Given the description of an element on the screen output the (x, y) to click on. 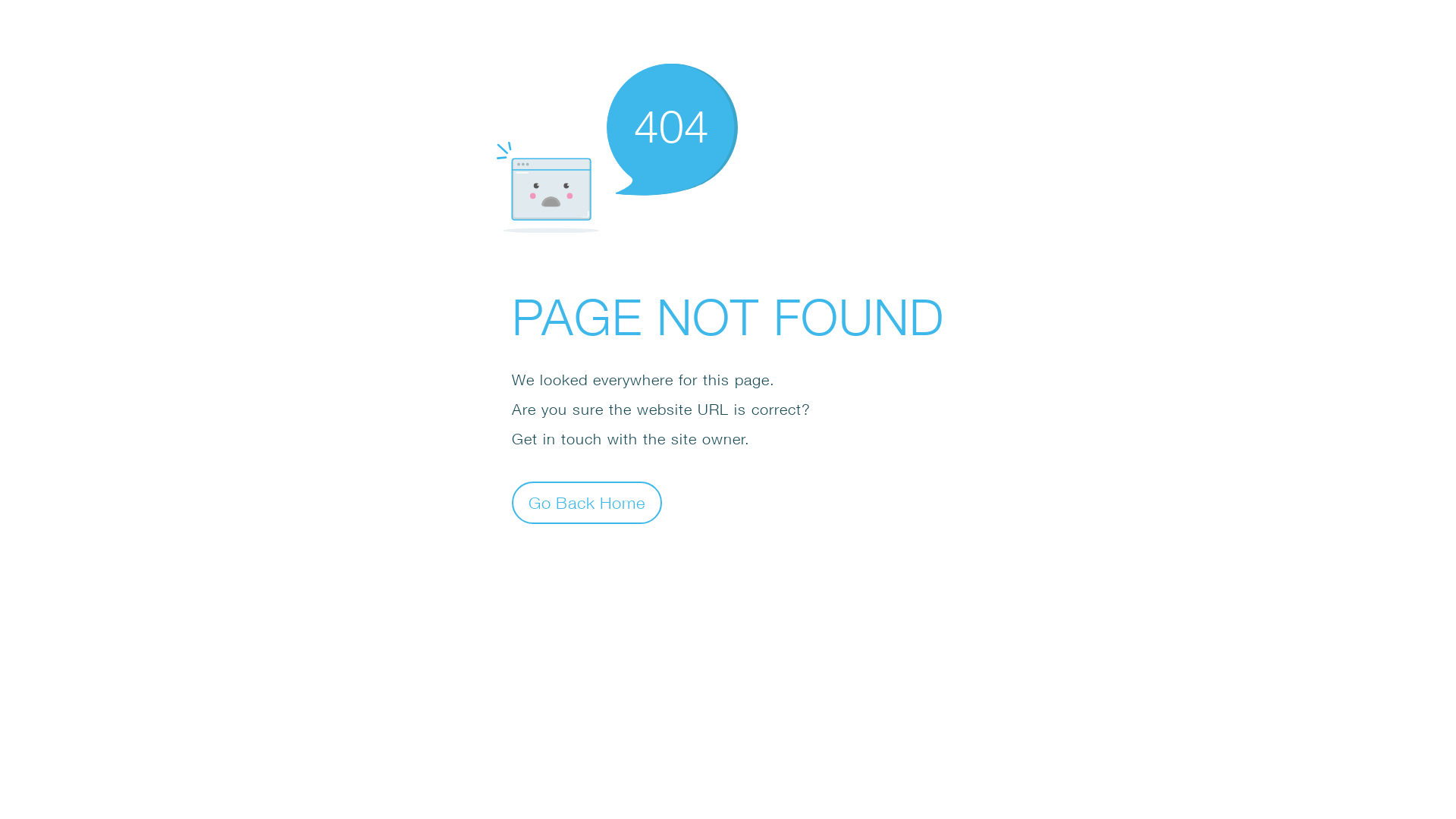
Go Back Home Element type: text (586, 502)
